Given the description of an element on the screen output the (x, y) to click on. 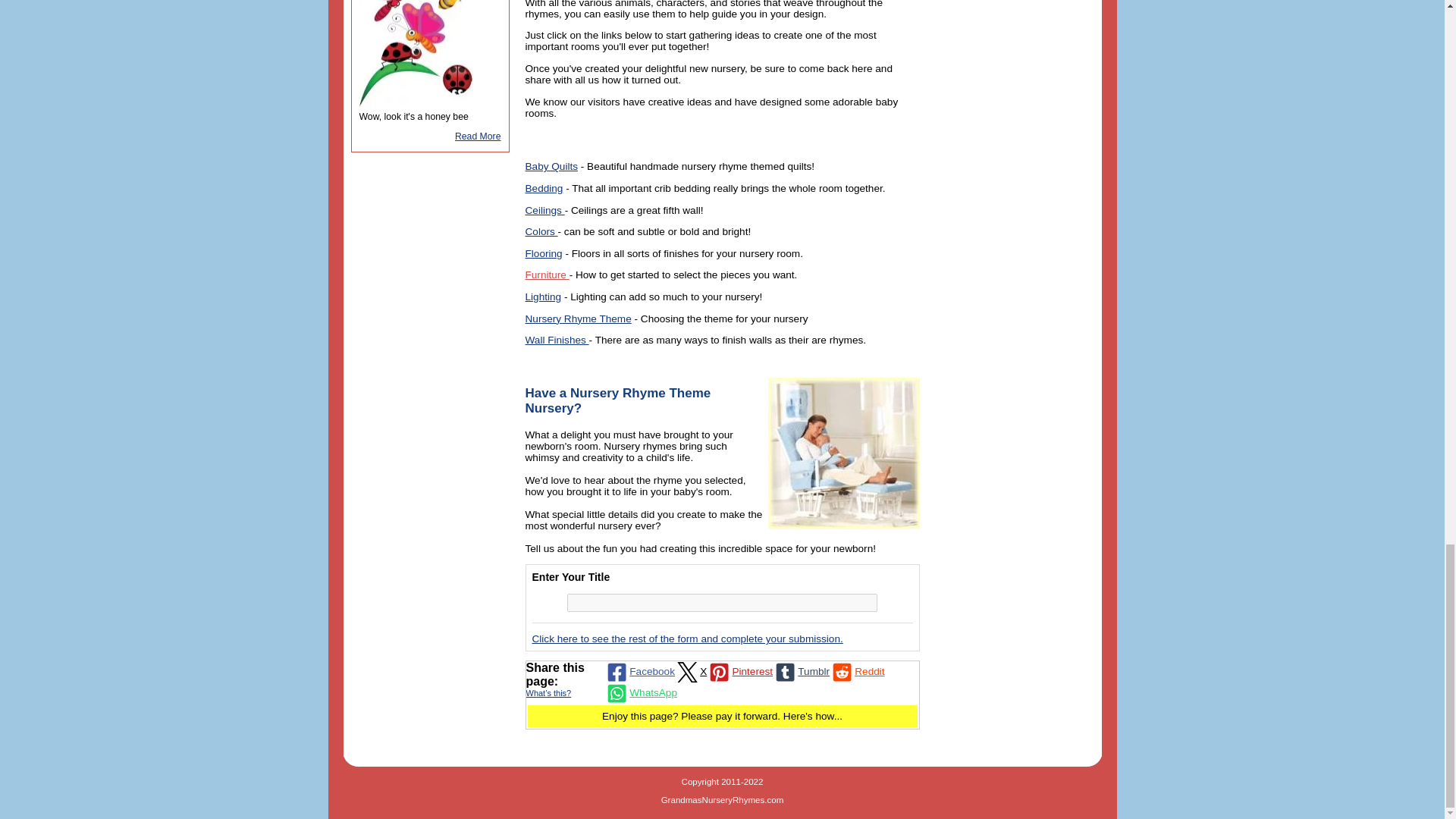
Ceilings (544, 210)
Pinterest (739, 671)
Reddit (856, 671)
Lighting (542, 296)
Flooring (543, 253)
Furniture (546, 274)
Nursery Rhyme Theme (577, 318)
Baby Quilts (551, 165)
Bedding (543, 188)
Tumblr (801, 671)
